Given the description of an element on the screen output the (x, y) to click on. 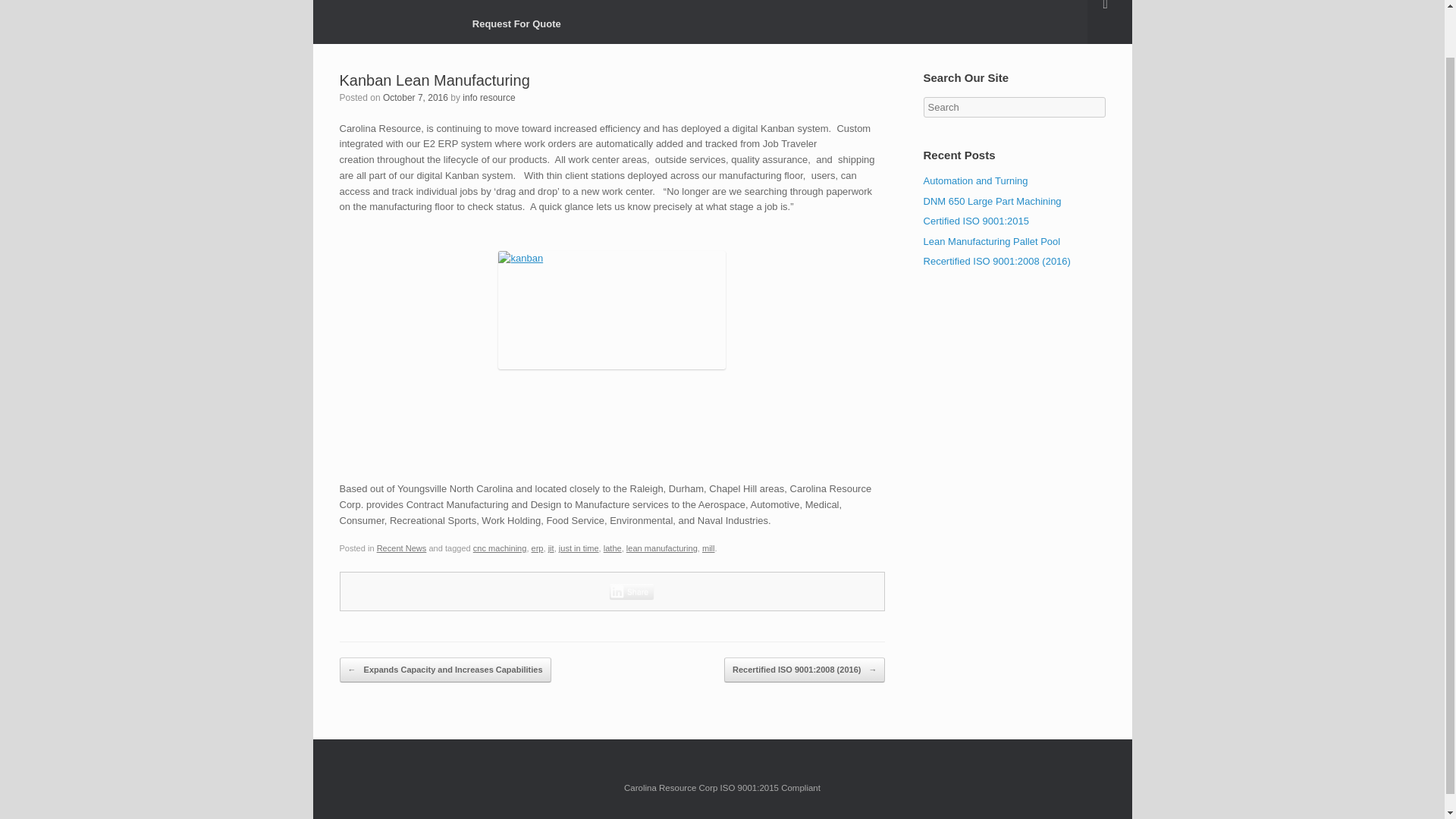
Request For Quote (516, 24)
Recent News (976, 2)
View all posts by info resource (489, 97)
DNM 650 Large Part Machining (992, 201)
Carolina Resource (373, 7)
Contact (873, 2)
mill (707, 547)
lean manufacturing (661, 547)
lathe (612, 547)
Quality Assurance (759, 2)
Lean Manufacturing Pallet Pool (992, 240)
Automation and Turning (975, 180)
Home (485, 2)
Manufacturing Services (607, 2)
Recent News (401, 547)
